Given the description of an element on the screen output the (x, y) to click on. 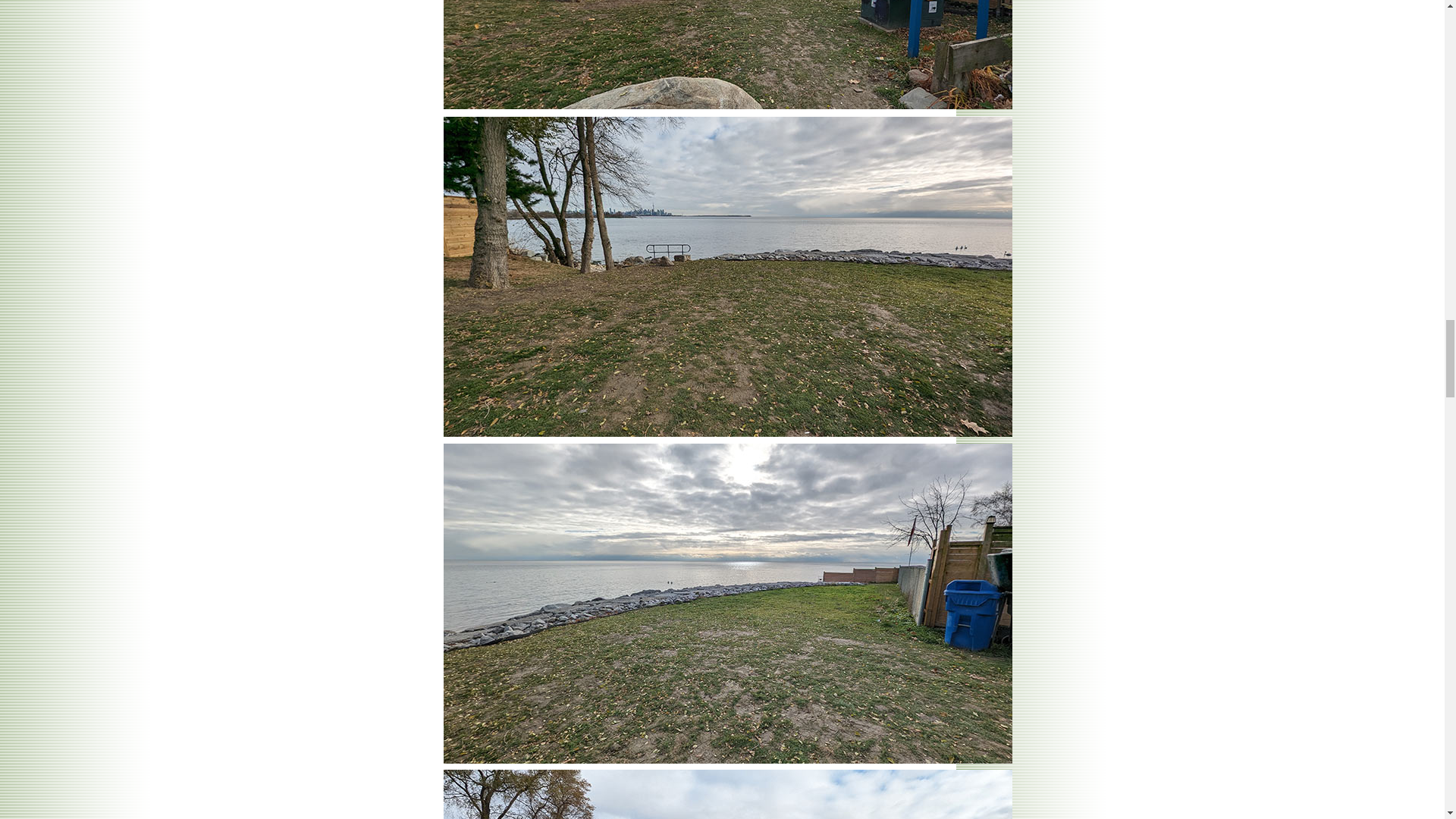
East-ViewMRP (726, 794)
South-view (726, 54)
